Given the description of an element on the screen output the (x, y) to click on. 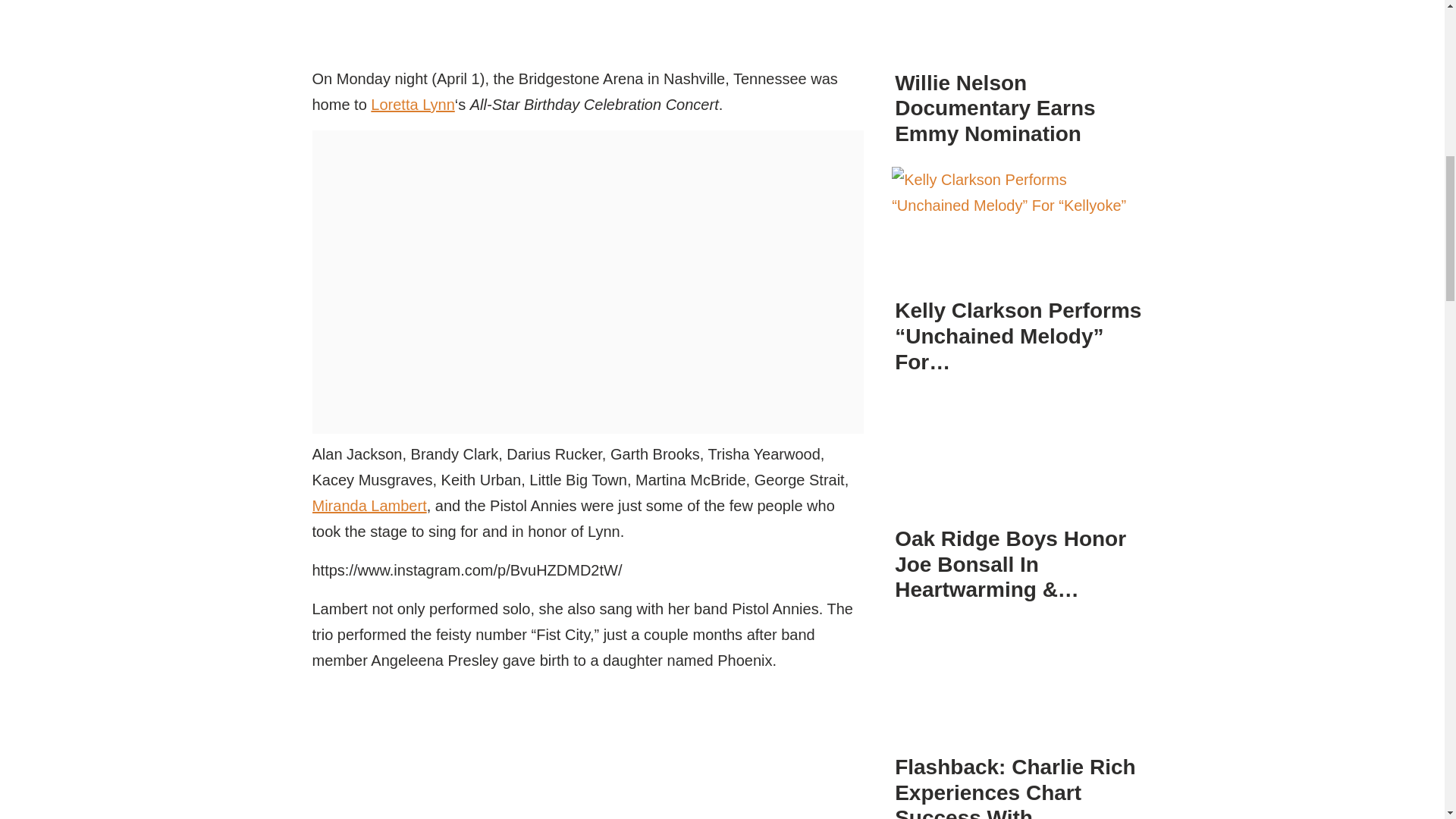
Willie Nelson Documentary Earns Emmy Nomination (1019, 35)
Willie Nelson Documentary Earns Emmy Nomination (995, 108)
Willie Nelson Documentary Earns Emmy Nomination (1019, 31)
